Given the description of an element on the screen output the (x, y) to click on. 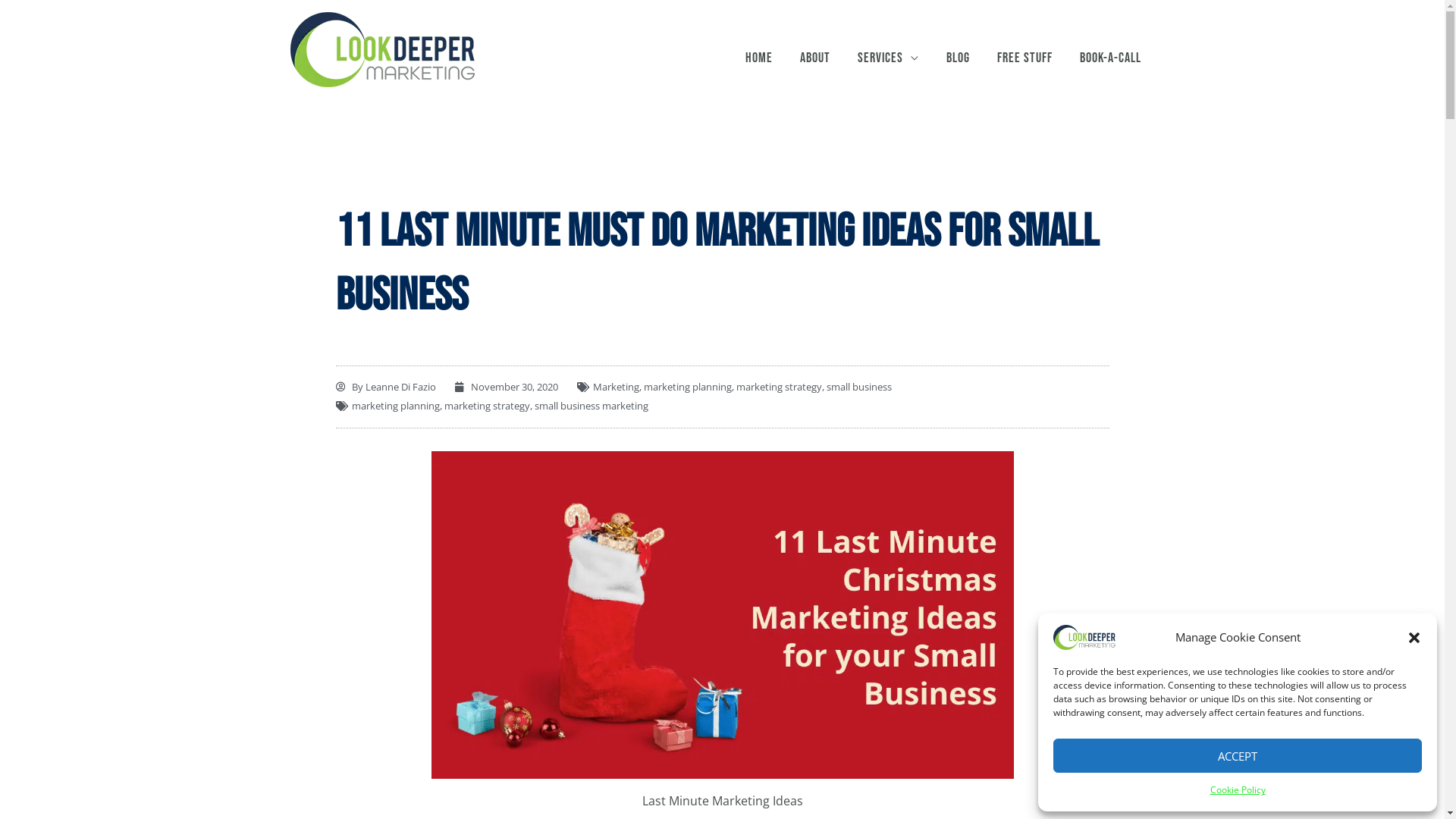
small business Element type: text (858, 385)
Cookie Policy Element type: text (1237, 790)
Marketing Element type: text (616, 385)
HOME Element type: text (758, 58)
November 30, 2020 Element type: text (506, 387)
ACCEPT Element type: text (1237, 755)
By Leanne Di Fazio Element type: text (385, 387)
marketing planning Element type: text (395, 405)
BOOK-A-CALL Element type: text (1110, 58)
marketing strategy Element type: text (778, 385)
small business marketing Element type: text (590, 405)
ABOUT Element type: text (814, 58)
FREE STUFF Element type: text (1023, 58)
BLOG Element type: text (957, 58)
SERVICES Element type: text (887, 58)
marketing strategy Element type: text (487, 405)
marketing planning Element type: text (687, 385)
11 last minute Must Do Marketing Ideas for Small Business Element type: hover (721, 613)
